Given the description of an element on the screen output the (x, y) to click on. 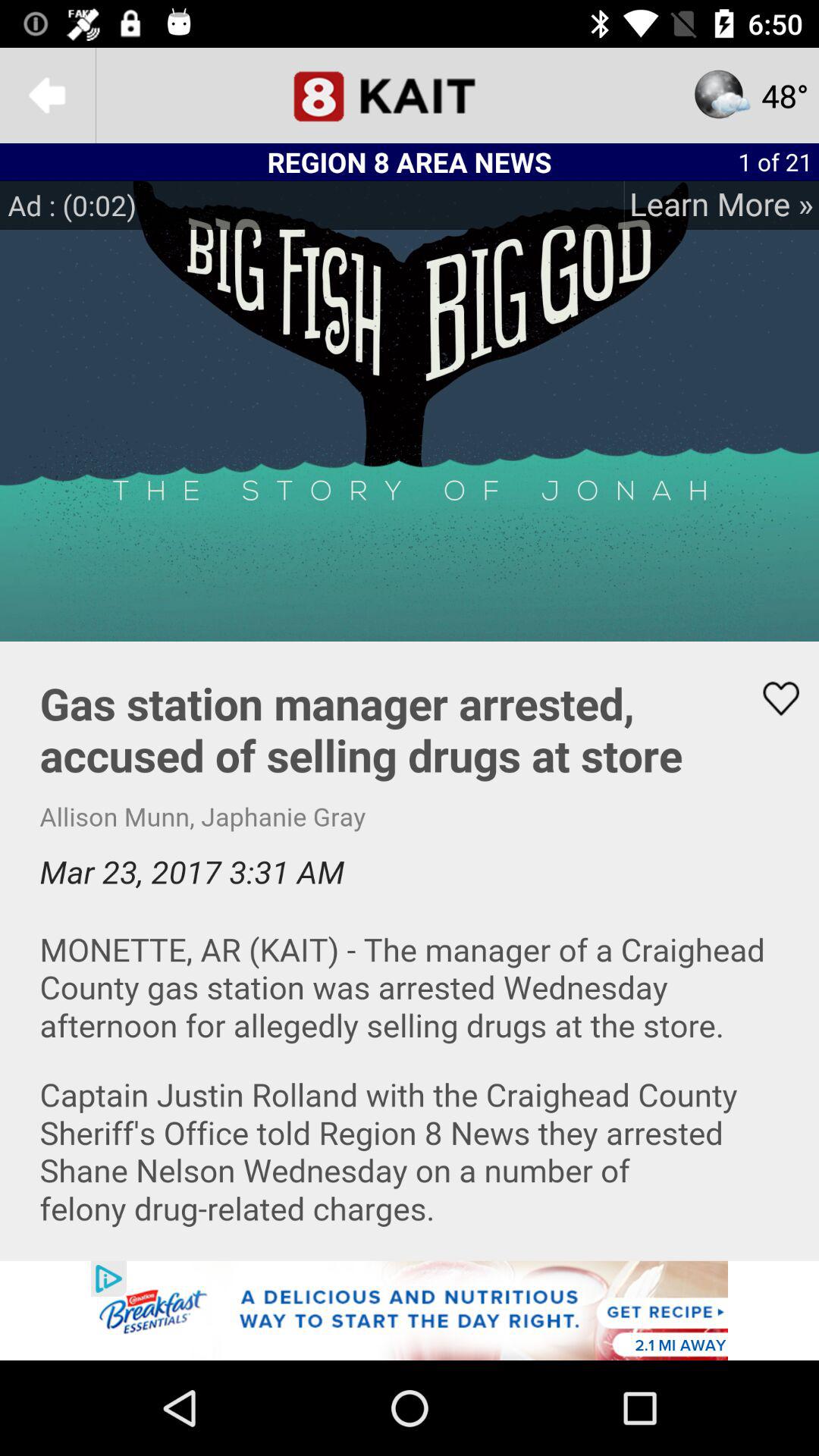
highlighted button (771, 698)
